Given the description of an element on the screen output the (x, y) to click on. 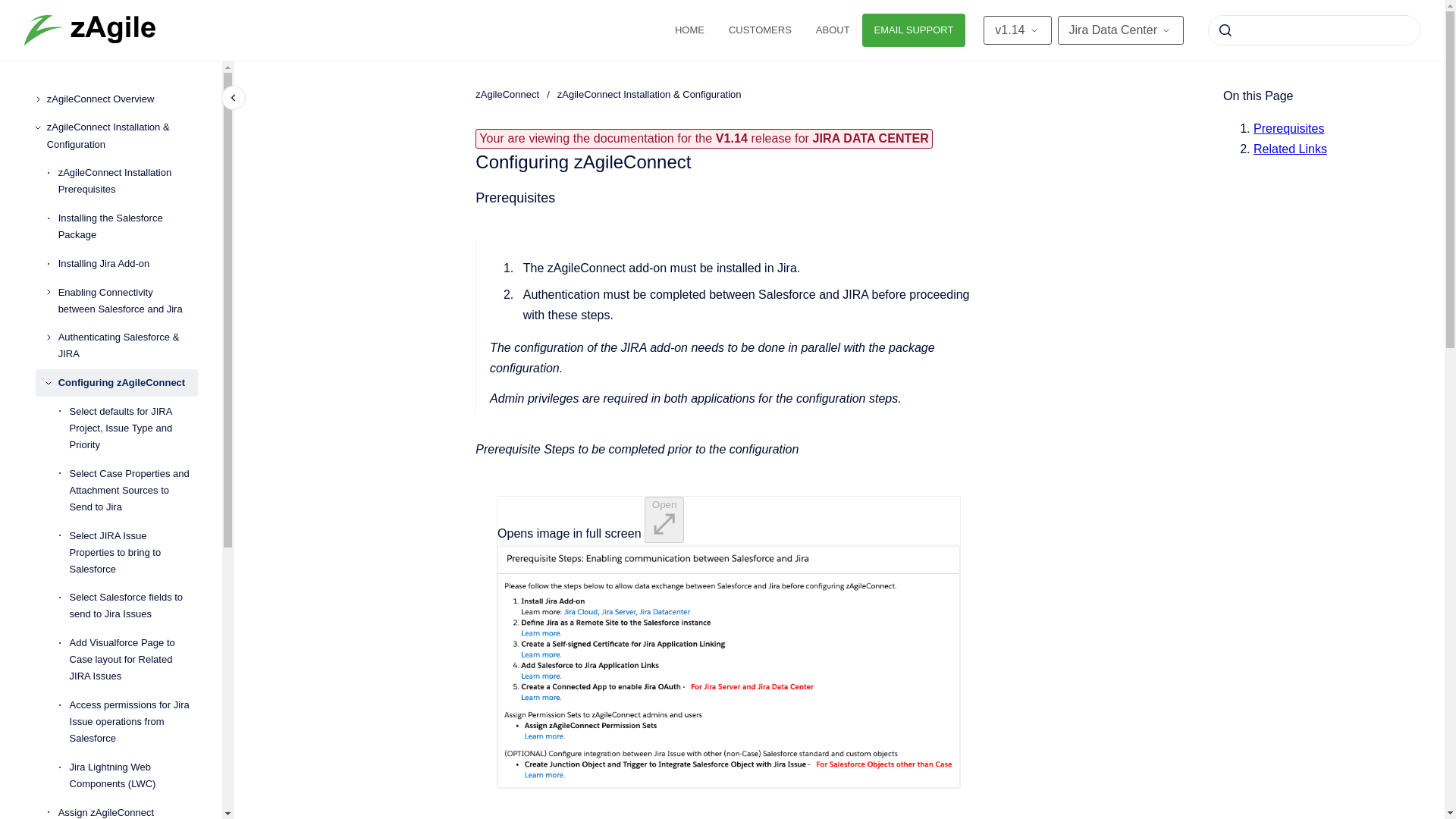
v1.14 (1017, 30)
zAgileConnect Overview (122, 99)
EMAIL SUPPORT (913, 29)
Jira Data Center (1120, 30)
Select Salesforce fields to send to Jira Issues (133, 606)
zAgileConnect Installation Prerequisites (128, 180)
Select JIRA Issue Properties to bring to Salesforce (133, 552)
Configuring zAgileConnect (128, 382)
Installing Jira Add-on (128, 263)
HOME (689, 29)
